Given the description of an element on the screen output the (x, y) to click on. 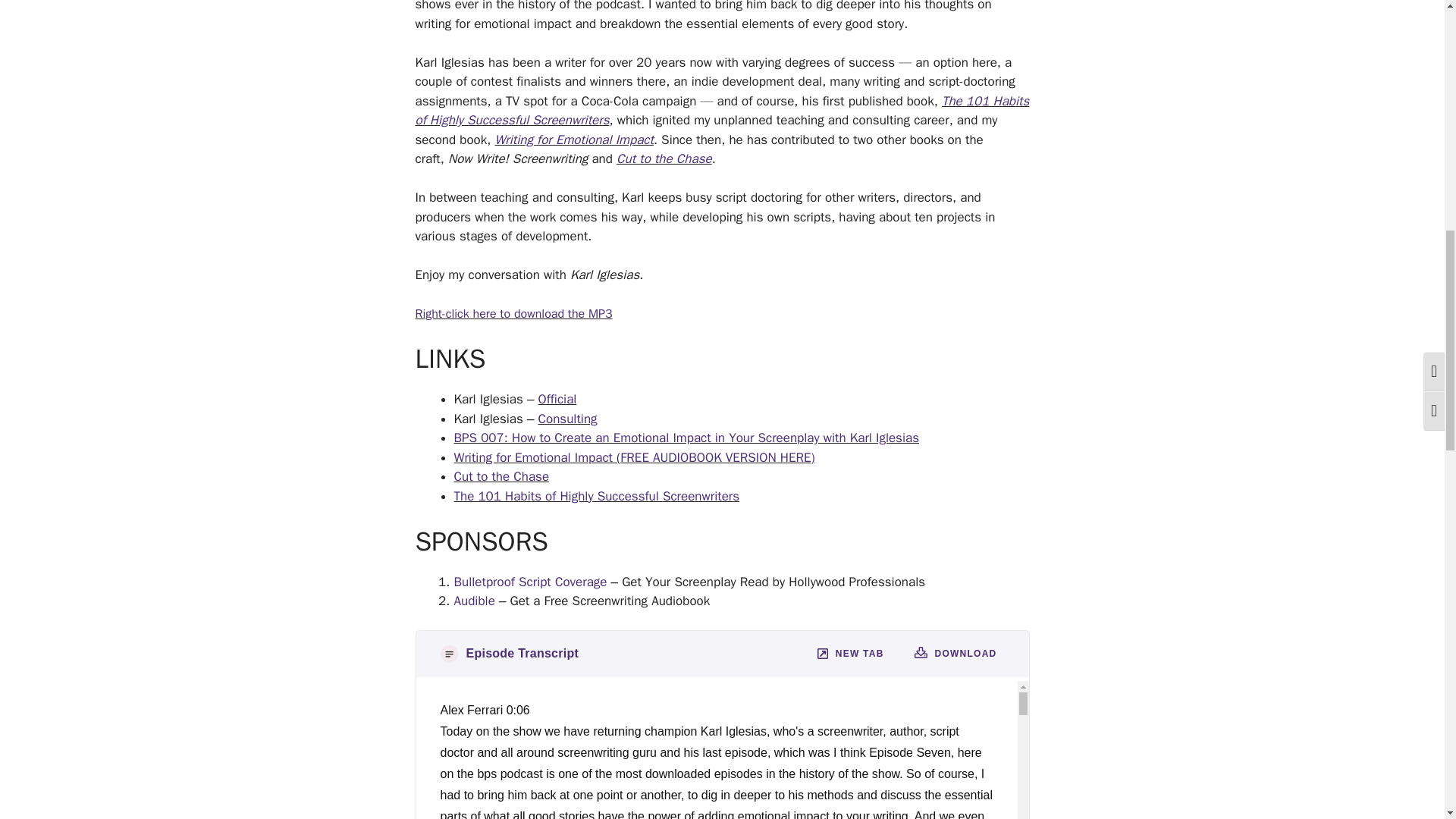
The 101 Habits of Highly Successful Screenwriters (595, 496)
Cut to the Chase (500, 476)
Bulletproof Script Coverage (529, 580)
Official (556, 399)
Consulting (566, 418)
Right-click here to download the MP3 (513, 313)
Cut to the Chase (663, 158)
Writing for Emotional Impact (531, 456)
Writing for Emotional Impact (573, 139)
The 101 Habits of Highly Successful Screenwriters (721, 109)
